Given the description of an element on the screen output the (x, y) to click on. 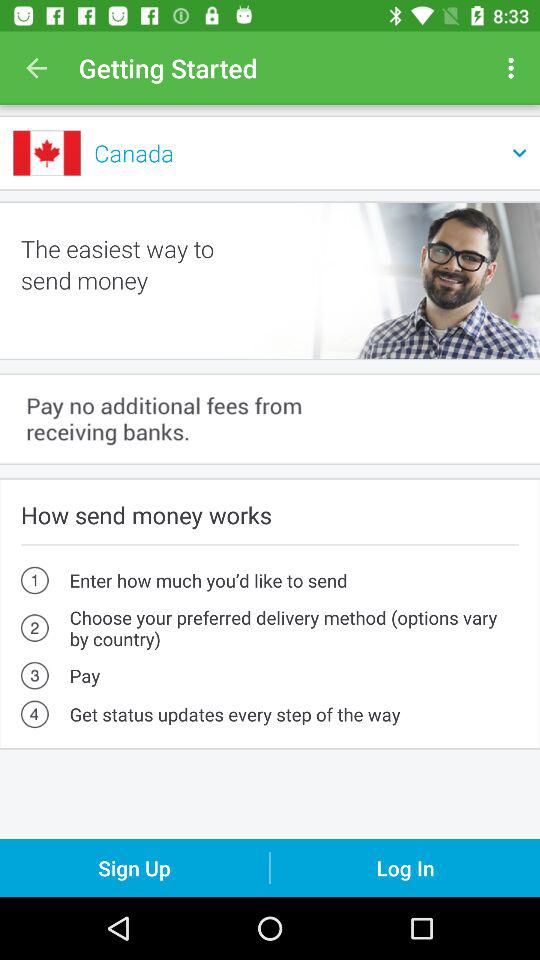
launch item next to the getting started icon (513, 67)
